Given the description of an element on the screen output the (x, y) to click on. 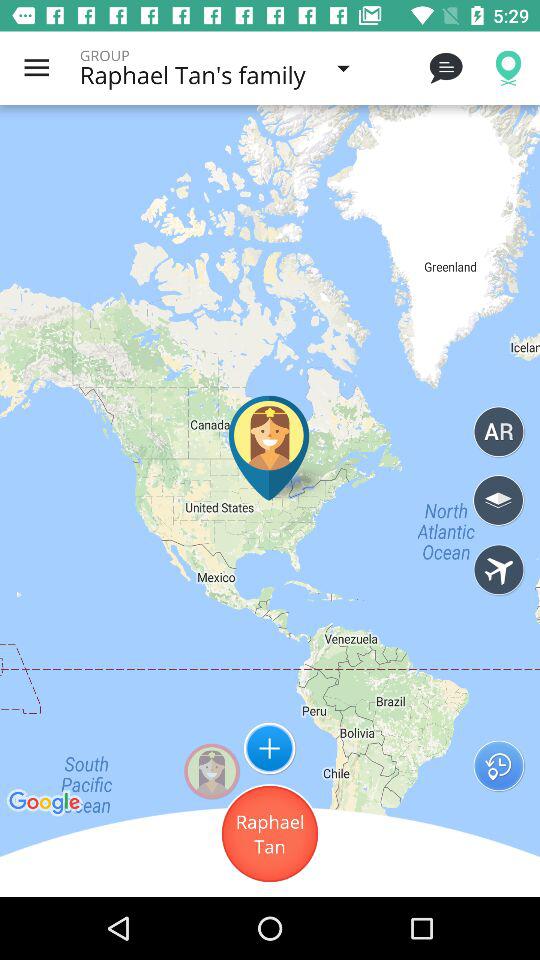
choose icon to the right of raphael tan s icon (444, 67)
